Given the description of an element on the screen output the (x, y) to click on. 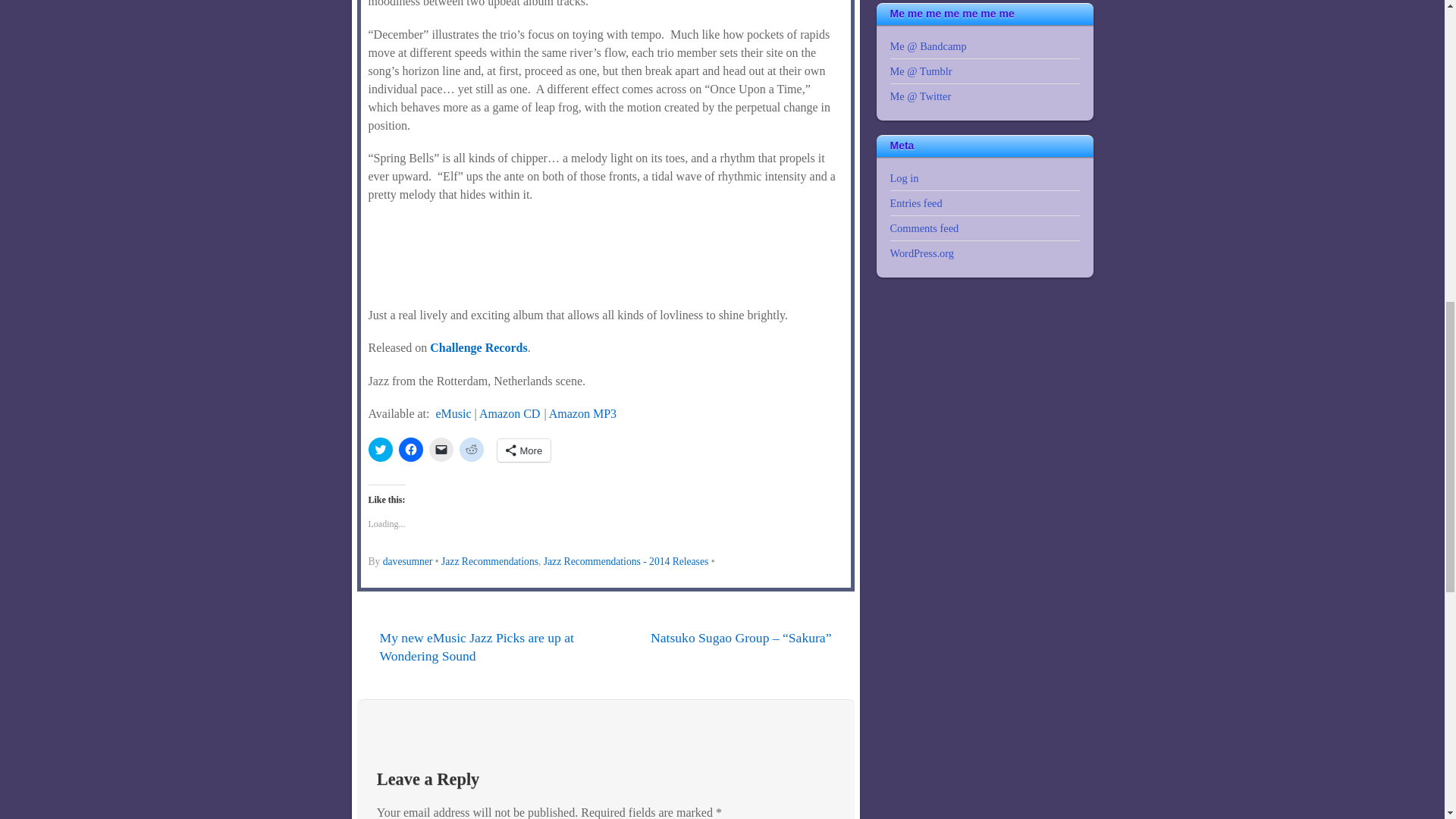
Click to share on Facebook (410, 449)
Amazon MP3 (581, 413)
eMusic (452, 413)
Challenge Records (478, 347)
Click to share on Twitter (380, 449)
Amazon CD (509, 413)
More (524, 449)
My new eMusic Jazz Picks are up at Wondering Sound (467, 647)
Click to share on Reddit (471, 449)
davesumner (407, 561)
link to label site (478, 347)
Jazz Recommendations - 2014 Releases (625, 561)
Jazz Recommendations (489, 561)
link to purchase at eMusic (452, 413)
Click to email a link to a friend (440, 449)
